Given the description of an element on the screen output the (x, y) to click on. 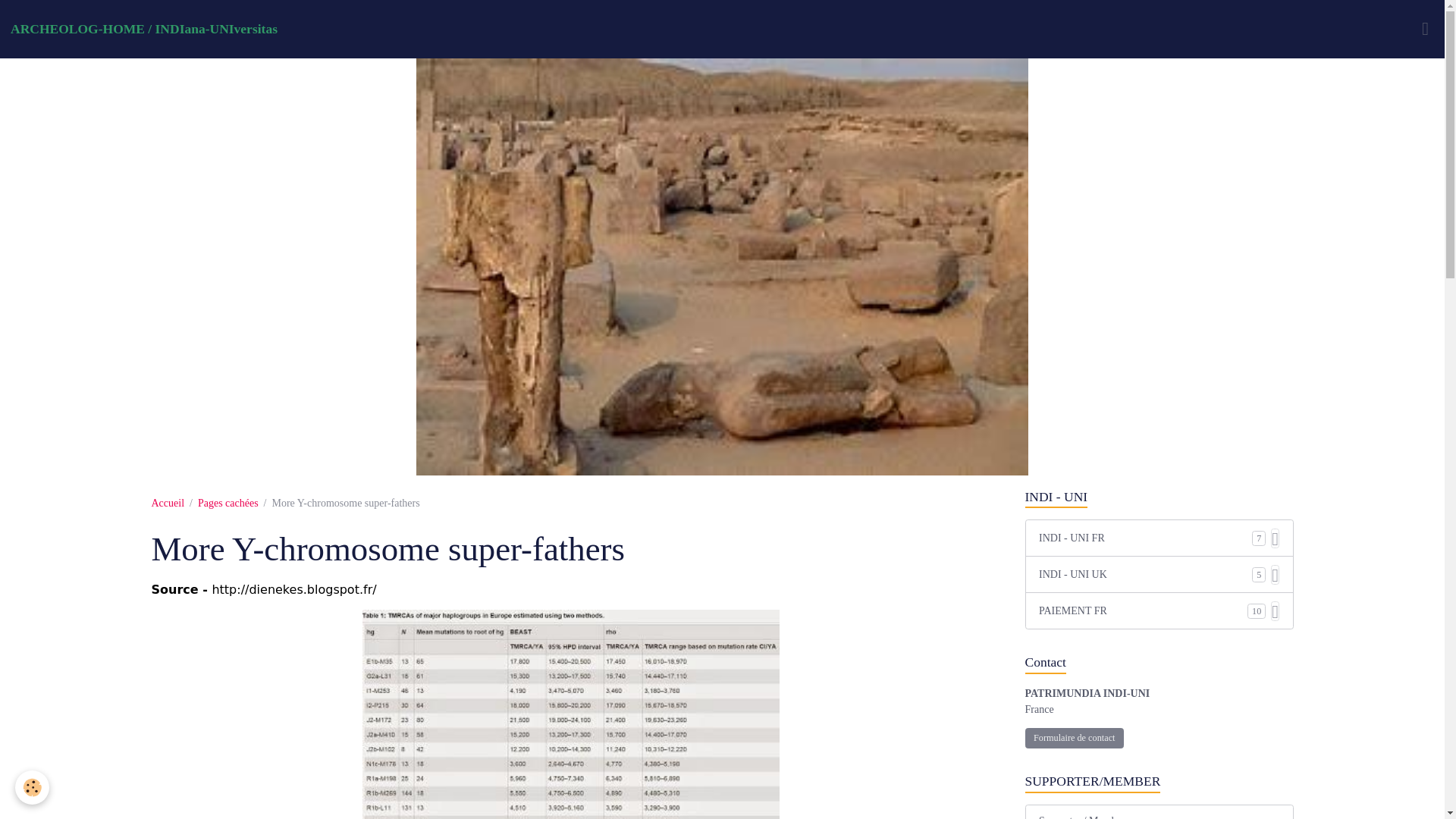
INDI - UNI UK (1145, 574)
INDI - UNI FR (1145, 537)
Accueil (167, 502)
PAIEMENT FR (1143, 610)
INDI - UNI (1159, 496)
Formulaire de contact (1074, 738)
